Given the description of an element on the screen output the (x, y) to click on. 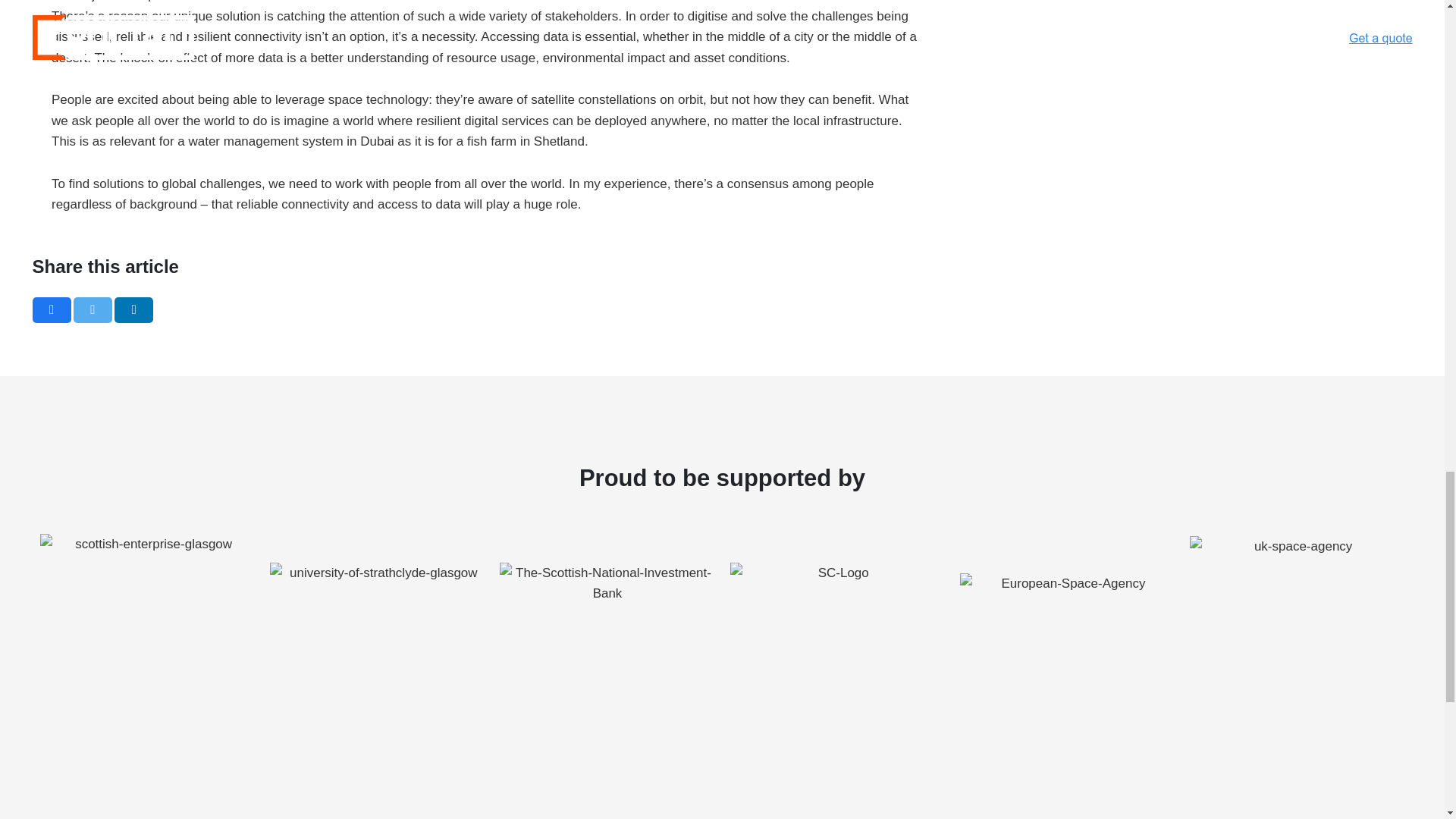
scottish-enterprise-glasgow (146, 640)
SC-Logo (836, 641)
Share this (50, 309)
Share this (133, 309)
weet this (93, 309)
The-Scottish-National-Investment-Bank (606, 641)
university-of-strathclyde-glasgow (376, 641)
European-Space-Agency (1066, 641)
uk-space-agency (1297, 641)
